Given the description of an element on the screen output the (x, y) to click on. 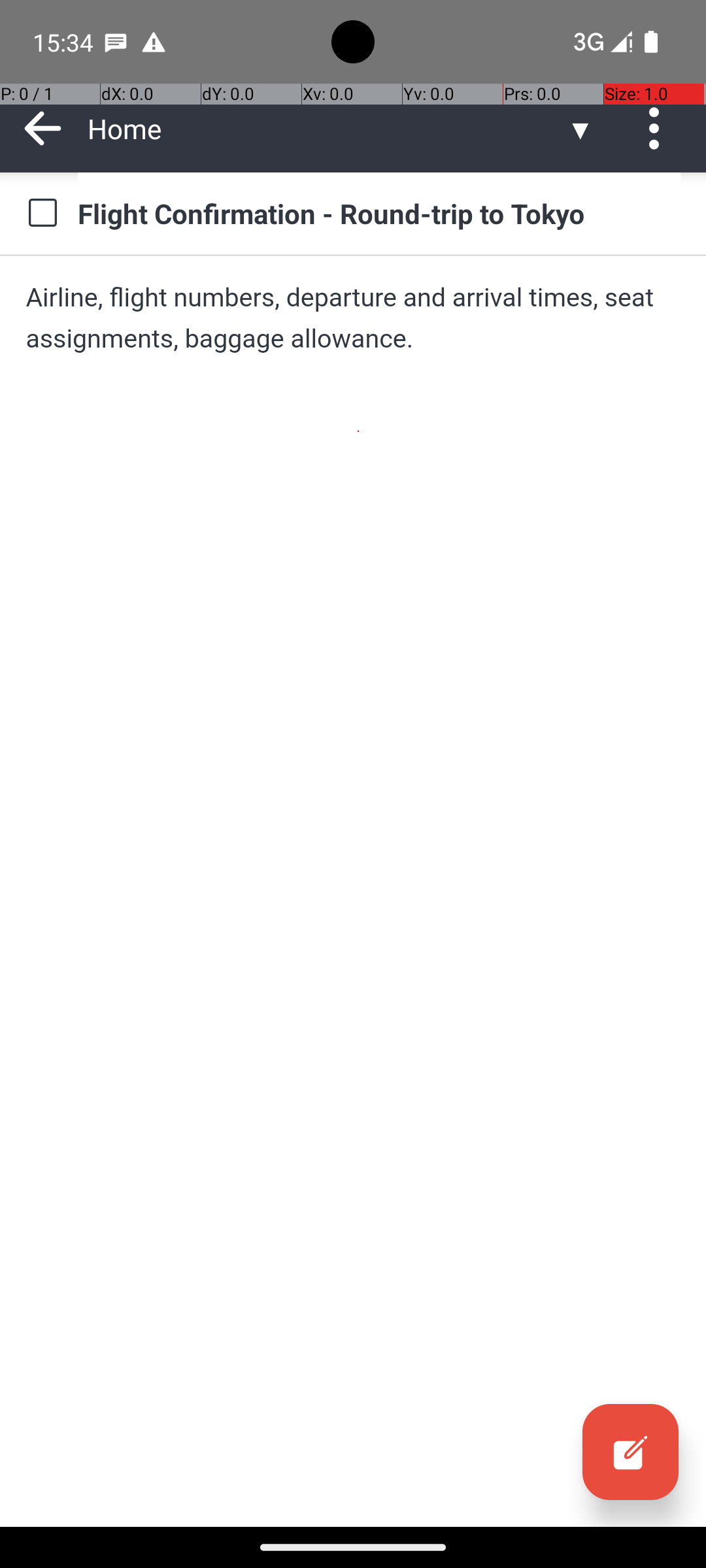
Flight Confirmation - Round-trip to Tokyo Element type: android.widget.EditText (378, 213)
Edit, collapsed Element type: android.widget.Button (630, 1452)
 Element type: android.widget.TextView (630, 1451)
Airline, flight numbers, departure and arrival times, seat assignments, baggage allowance. Element type: android.widget.TextView (352, 317)
